Given the description of an element on the screen output the (x, y) to click on. 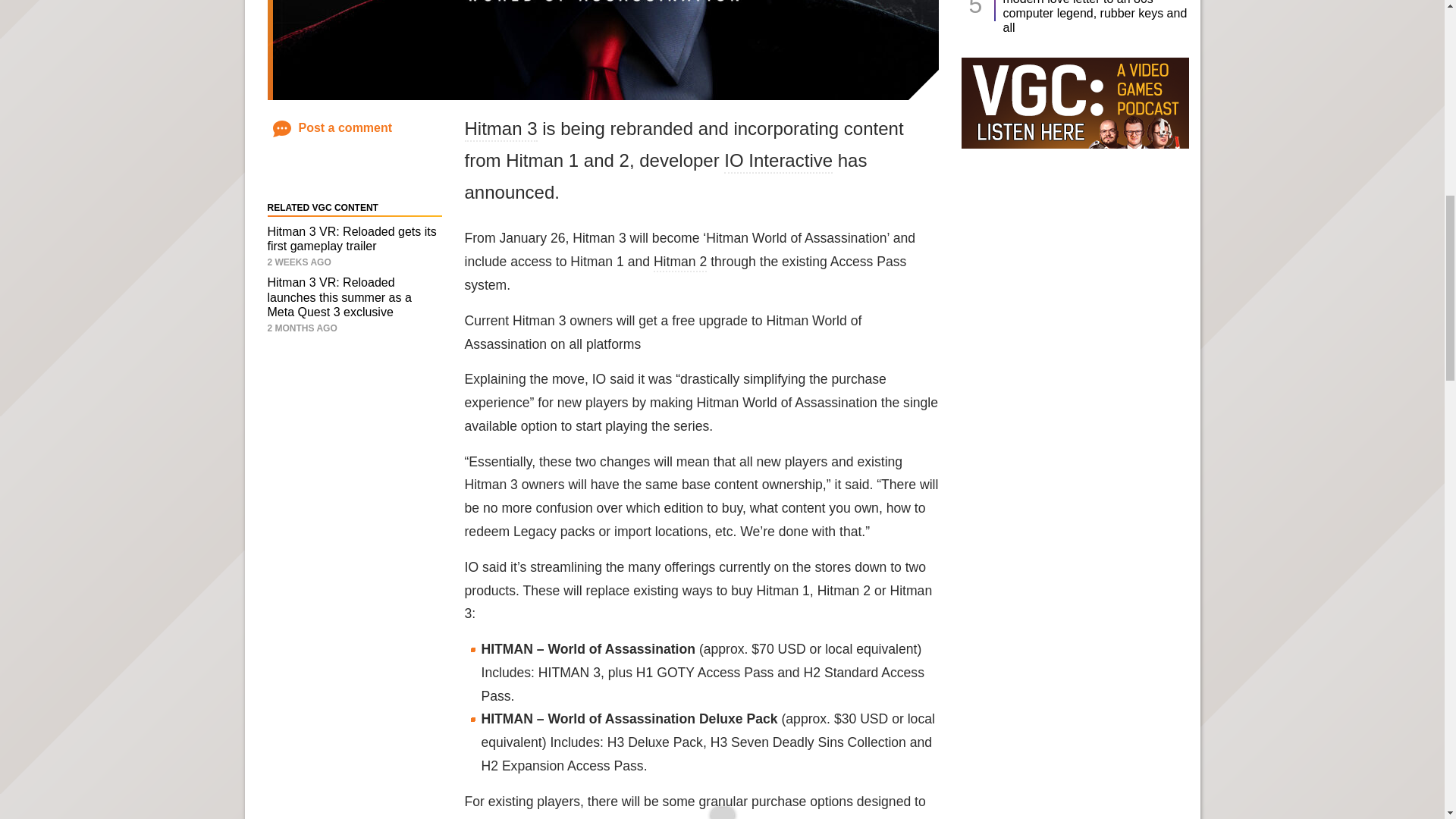
IO Interactive (777, 161)
Post a comment (333, 127)
Hitman 3 (500, 129)
Hitman 3 VR: Reloaded gets its first gameplay trailer (350, 238)
Hitman 2 (679, 262)
